Given the description of an element on the screen output the (x, y) to click on. 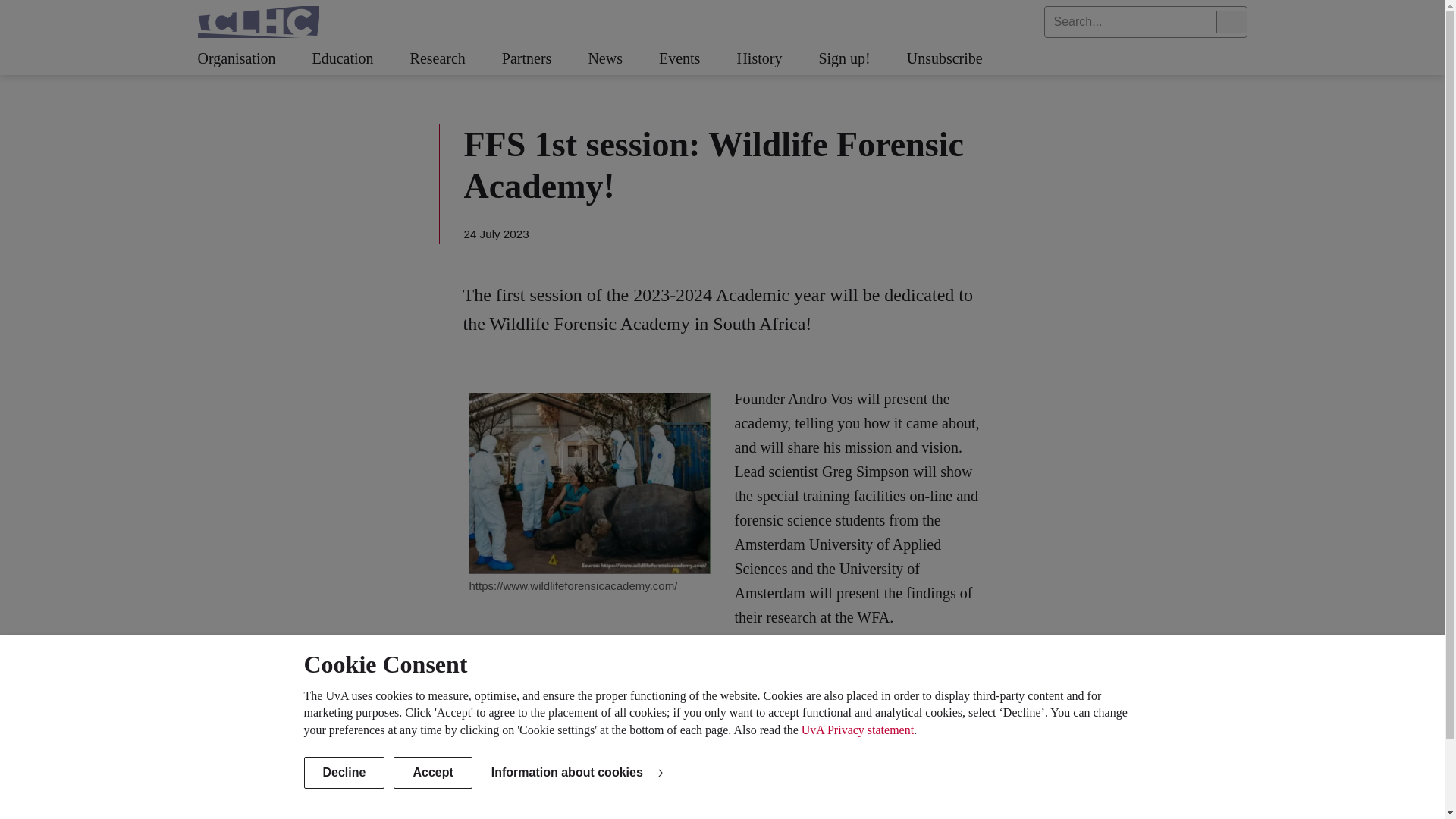
Submit search (1230, 21)
Research (456, 59)
Submit search (1230, 21)
Education (360, 59)
Partners (545, 59)
Submit search (1230, 21)
Organisation (253, 59)
Events (697, 59)
News (623, 59)
History (777, 59)
